Given the description of an element on the screen output the (x, y) to click on. 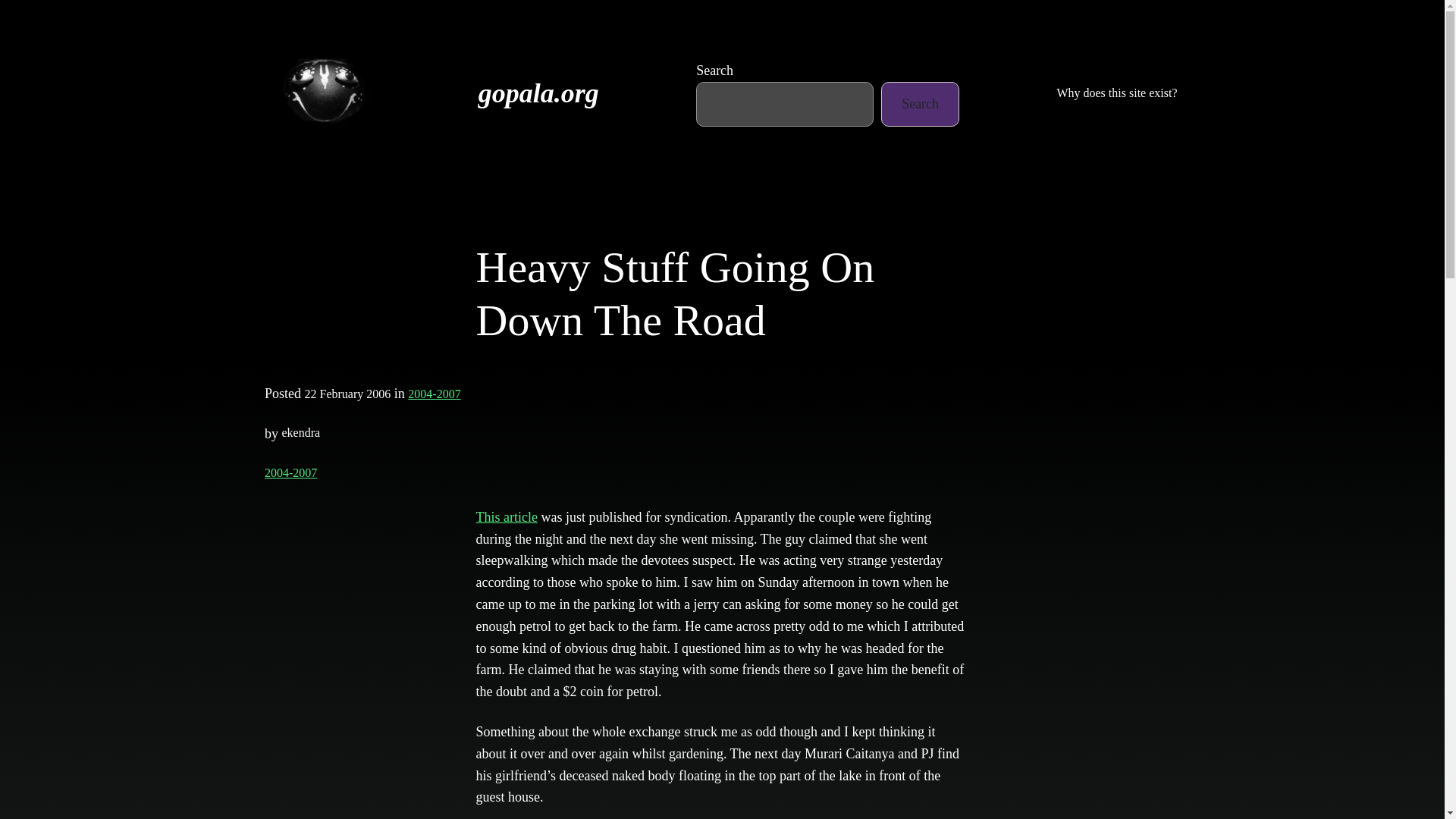
Why does this site exist? (1116, 93)
2004-2007 (433, 393)
This article (506, 516)
Search (919, 103)
2004-2007 (290, 472)
gopala.org (538, 92)
